Given the description of an element on the screen output the (x, y) to click on. 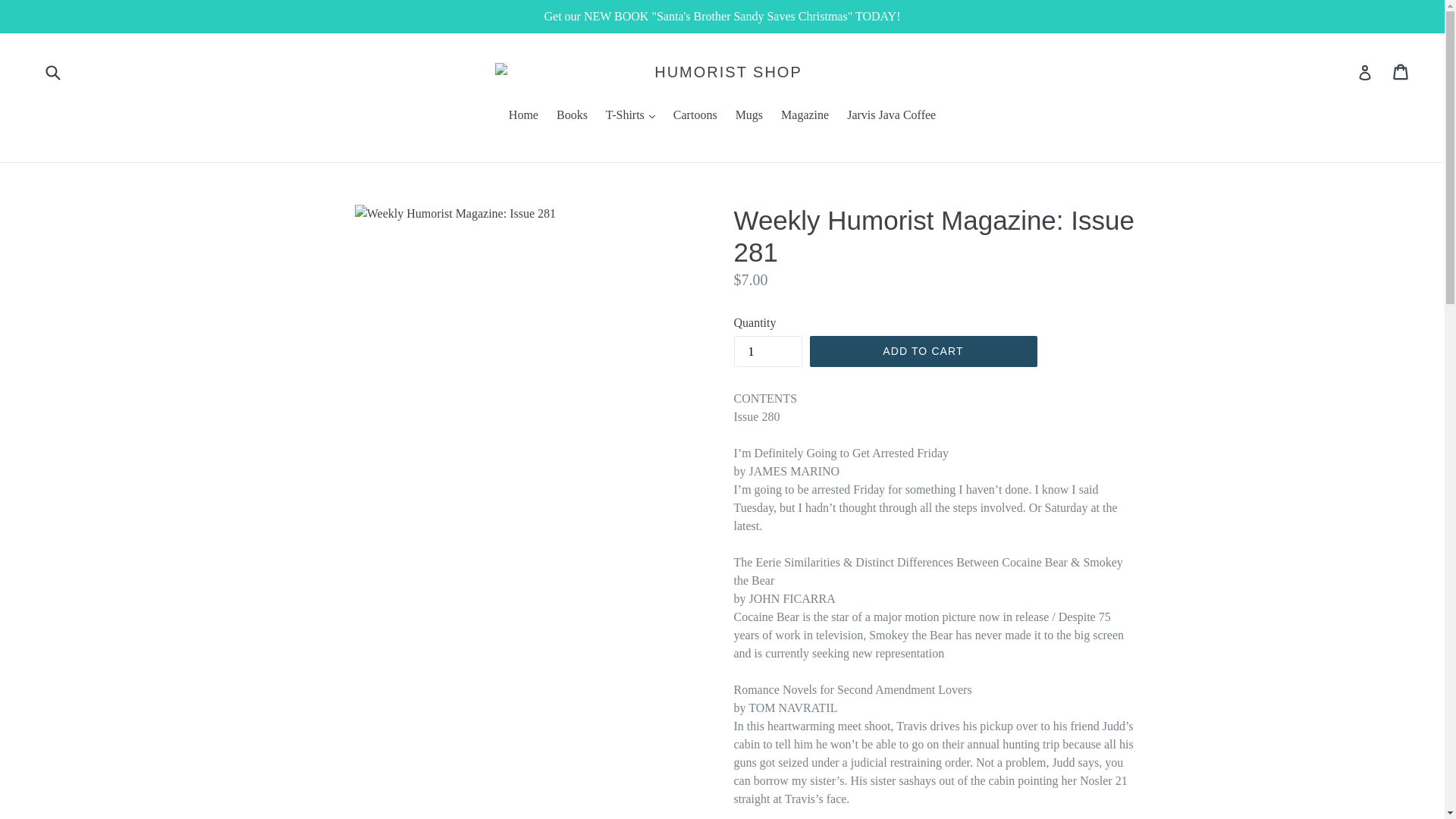
Mugs (749, 116)
ADD TO CART (922, 351)
Home (523, 116)
Books (571, 116)
Magazine (804, 116)
Cartoons (695, 116)
1 (767, 350)
Jarvis Java Coffee (891, 116)
